Given the description of an element on the screen output the (x, y) to click on. 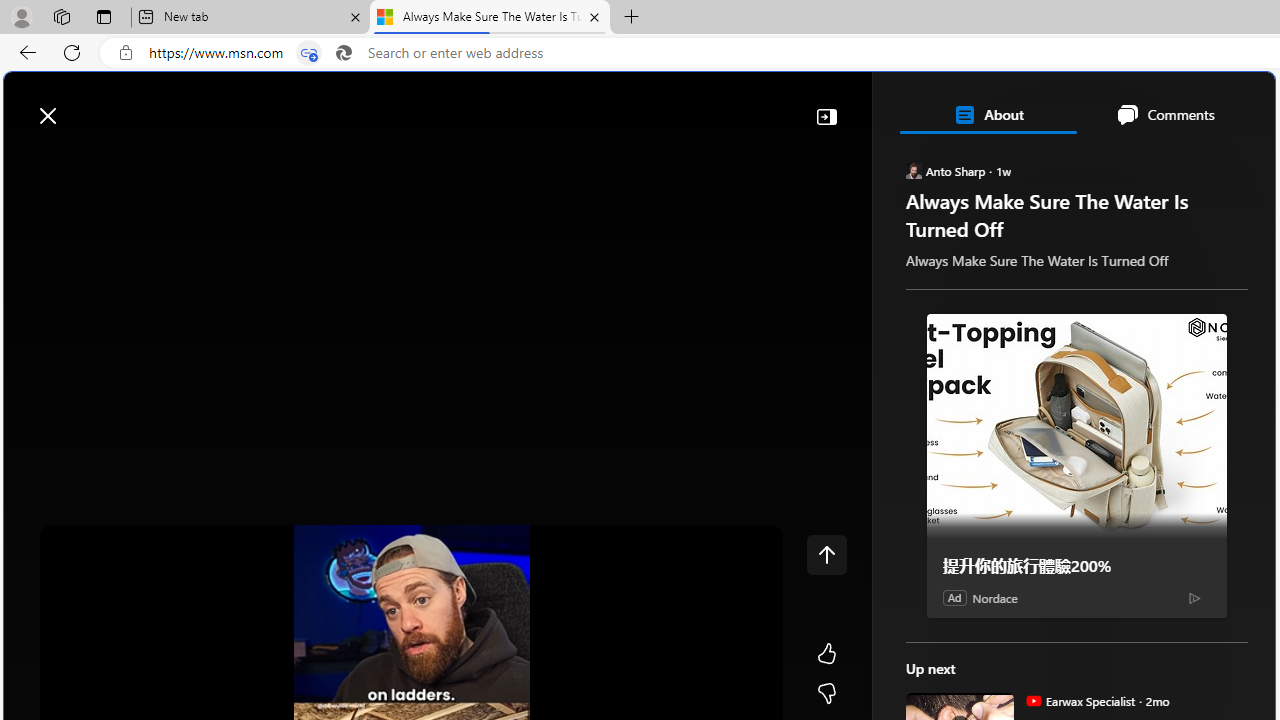
Refresh (72, 52)
Search icon (343, 53)
About (987, 114)
Tabs in split screen (308, 53)
Dislike (826, 693)
Collapse (826, 115)
Skip to footer (82, 105)
Open settings (1230, 105)
New Tab (632, 17)
